Given the description of an element on the screen output the (x, y) to click on. 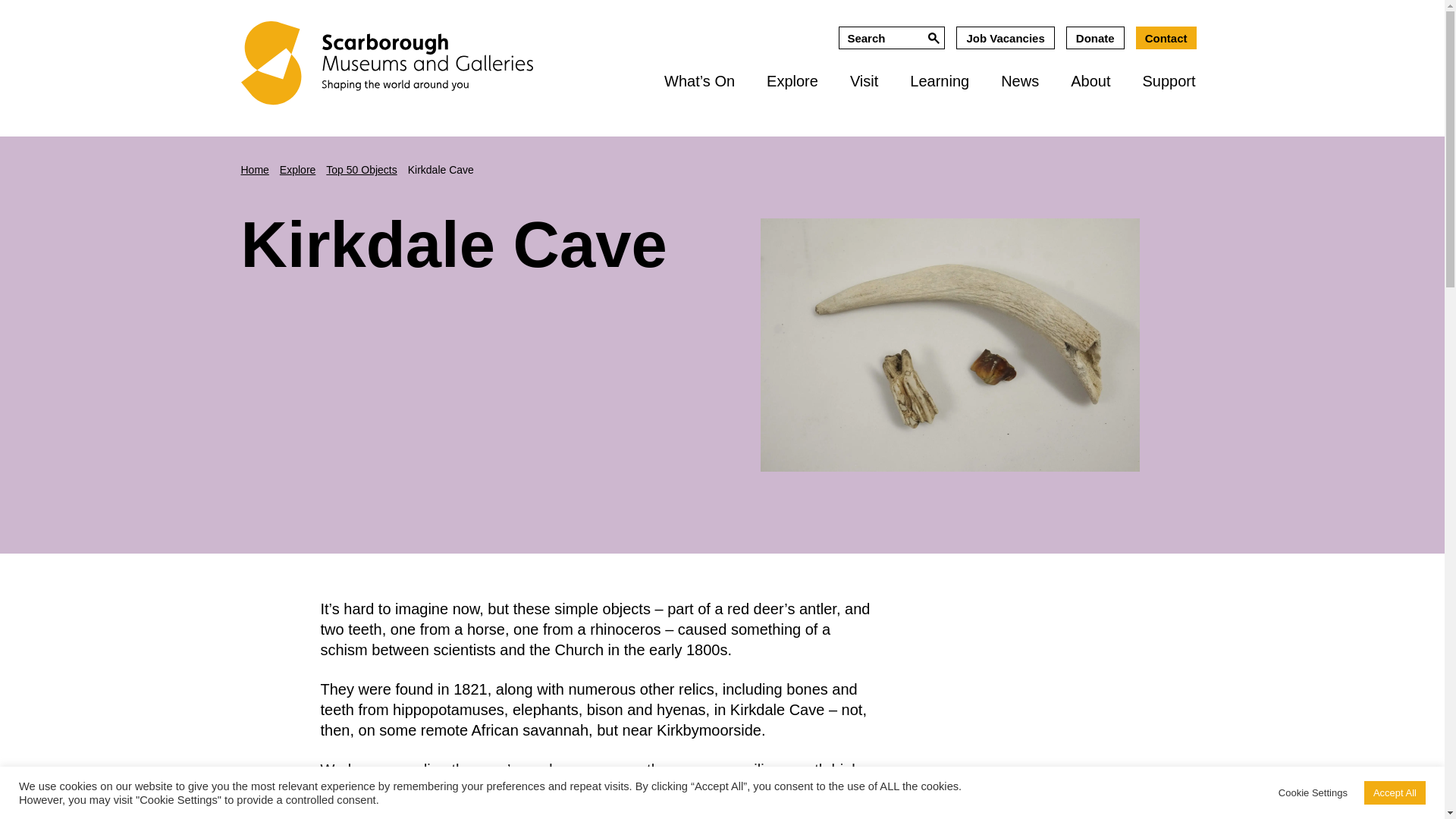
Search (933, 37)
Job Vacancies (1005, 37)
Explore (792, 81)
Home (255, 169)
Go to Explore. (297, 169)
Top 50 Objects (361, 169)
Support (1169, 81)
Contact (1165, 37)
Visit (863, 81)
Learning (938, 81)
Go to Scarborough Museums and Galleries. (255, 169)
About (1090, 81)
Go to Top 50 Objects. (361, 169)
Donate (1094, 37)
News (1019, 81)
